Given the description of an element on the screen output the (x, y) to click on. 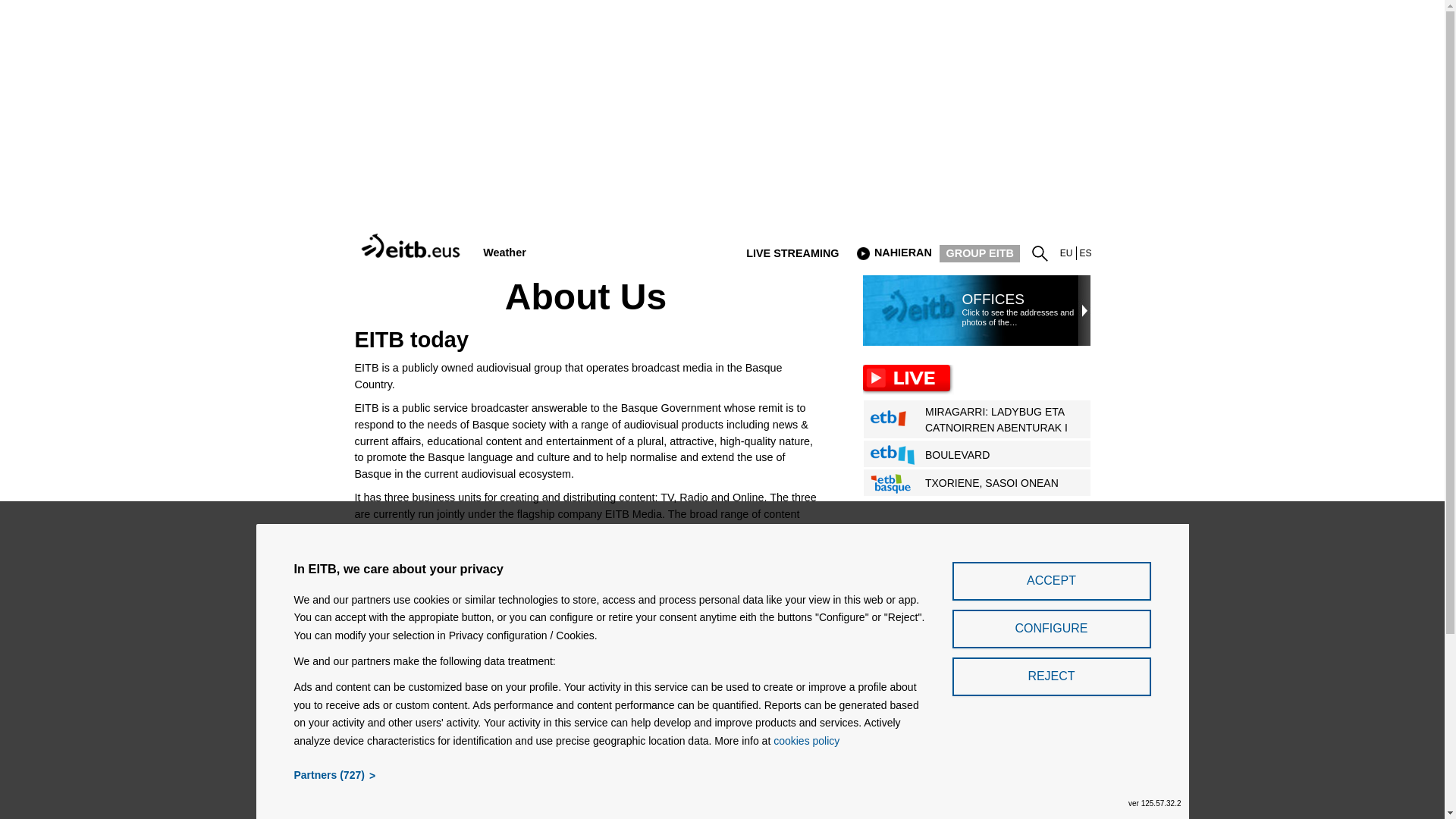
Bilatu (1043, 250)
Weather (504, 252)
TXORIENE, SASOI ONEAN (976, 694)
EITB 2030 Strategy (976, 734)
Euskara (979, 483)
BOULEVARD (641, 677)
EITB Euskal Irrati Telebista (1066, 253)
NAHIERAN (979, 455)
Offices (976, 574)
EU (412, 237)
